Given the description of an element on the screen output the (x, y) to click on. 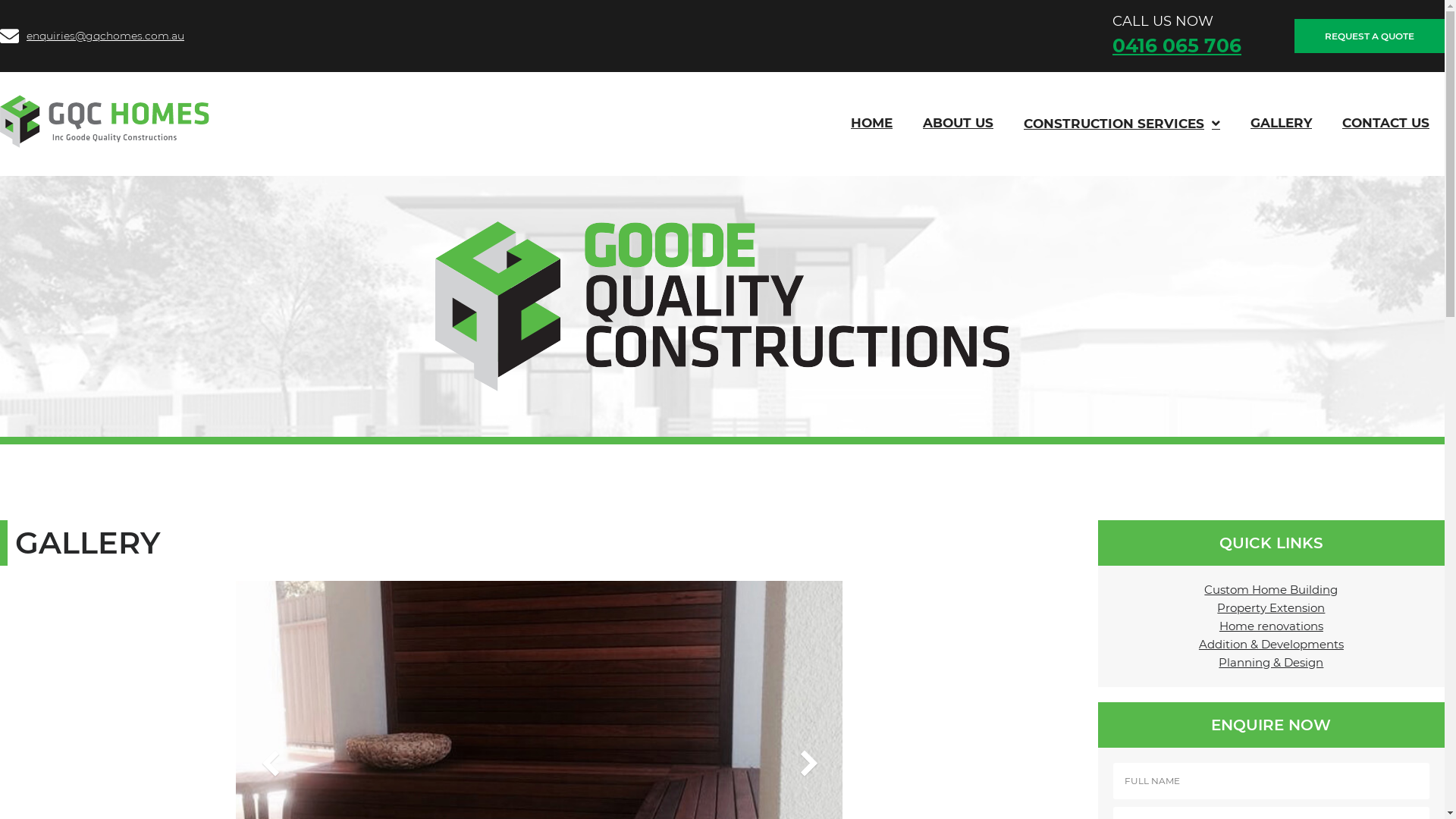
GALLERY Element type: text (1280, 122)
Addition & Developments Element type: text (1270, 644)
CONSTRUCTION SERVICES Element type: text (1121, 123)
Custom Home Building Element type: text (1270, 589)
Planning & Design Element type: text (1270, 662)
REQUEST A QUOTE Element type: text (1369, 35)
Property Extension Element type: text (1270, 607)
enquiries@gqchomes.com.au Element type: text (92, 35)
CONTACT US Element type: text (1385, 122)
ABOUT US Element type: text (957, 122)
0416 065 706 Element type: text (1176, 45)
HOME Element type: text (871, 122)
Home renovations Element type: text (1271, 625)
